Given the description of an element on the screen output the (x, y) to click on. 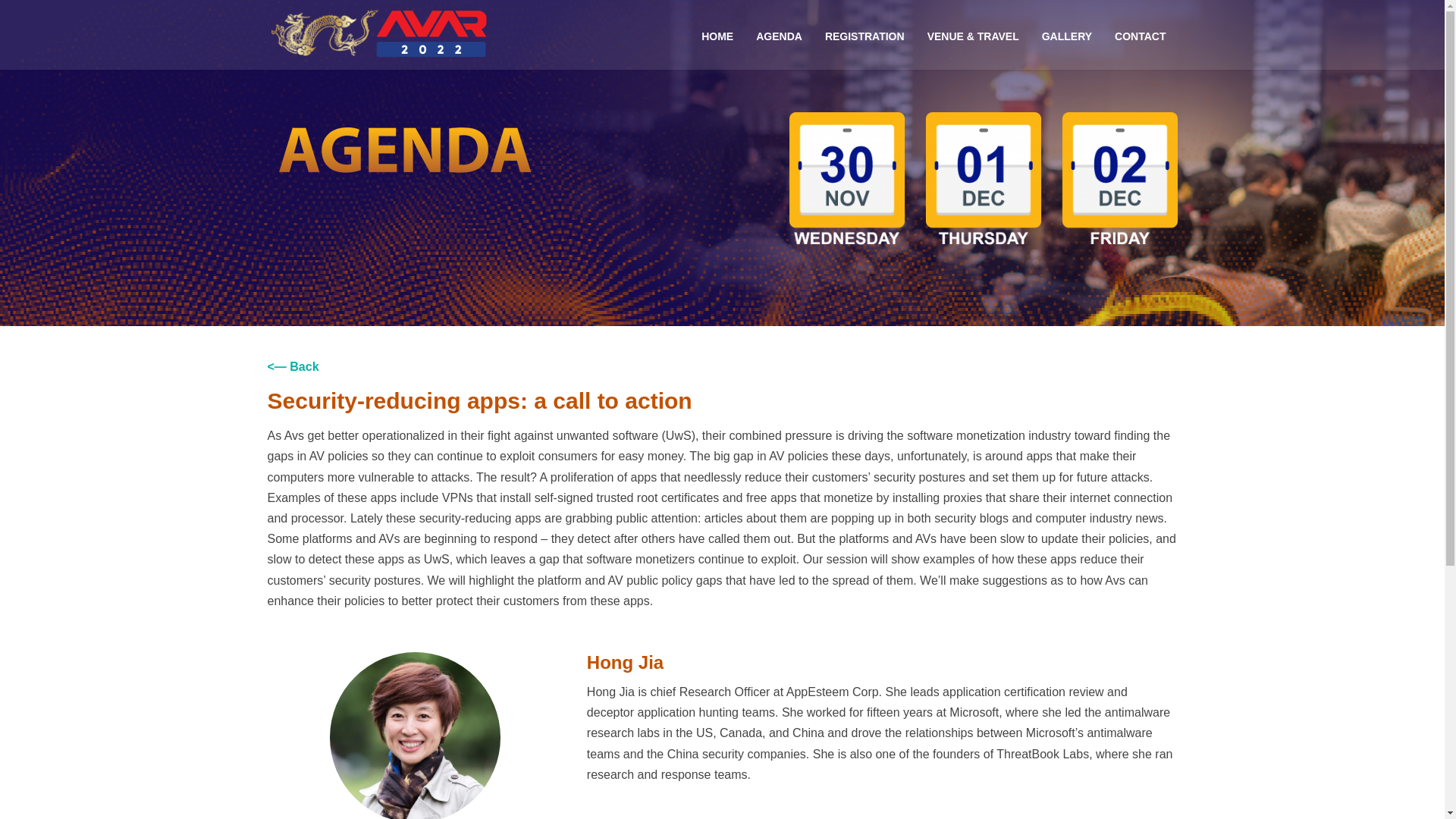
REGISTRATION (864, 34)
GALLERY (1066, 34)
AGENDA (778, 34)
CONTACT (1139, 34)
Hong Jia (415, 812)
